Given the description of an element on the screen output the (x, y) to click on. 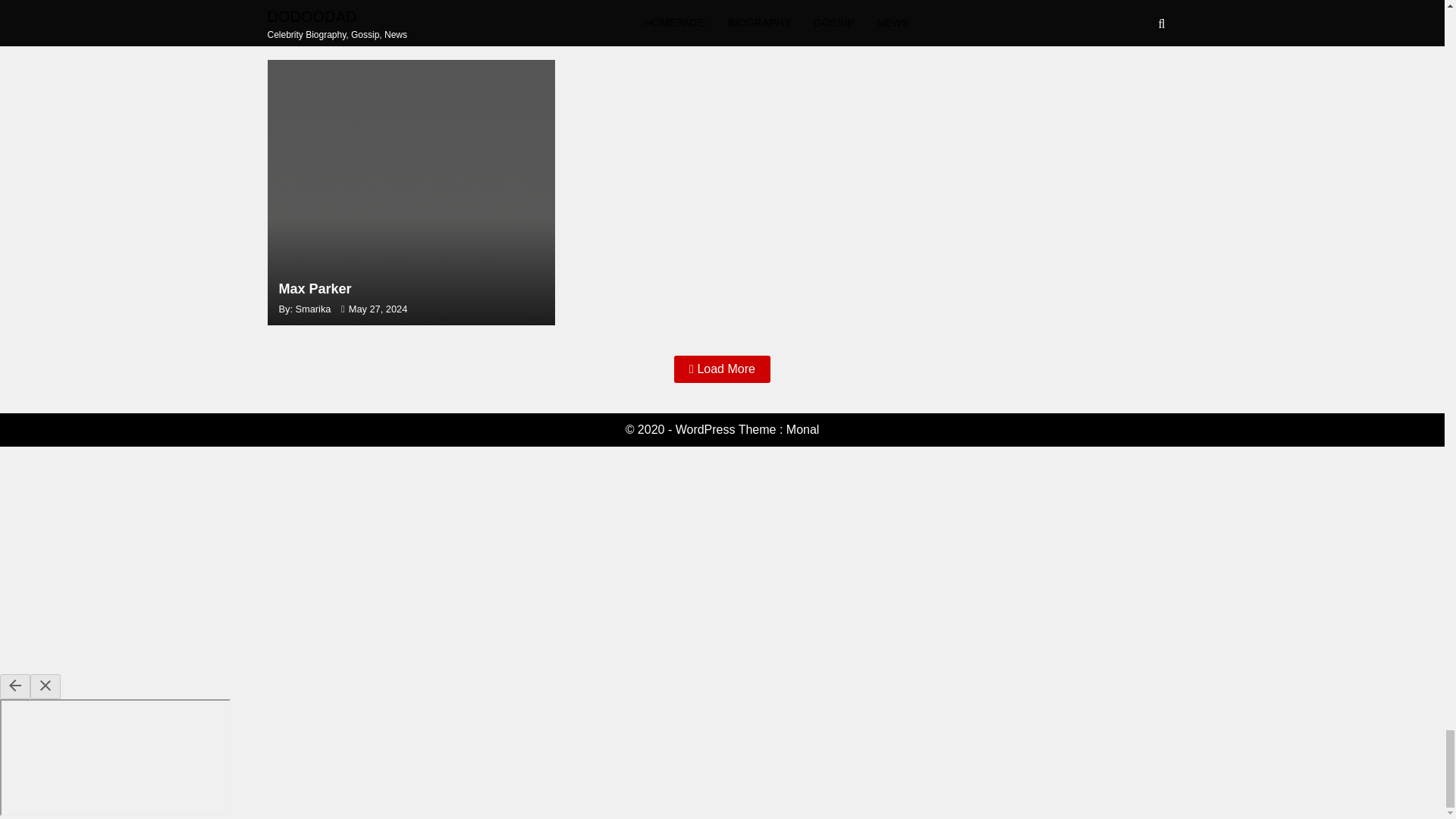
Load More (1017, 22)
